Given the description of an element on the screen output the (x, y) to click on. 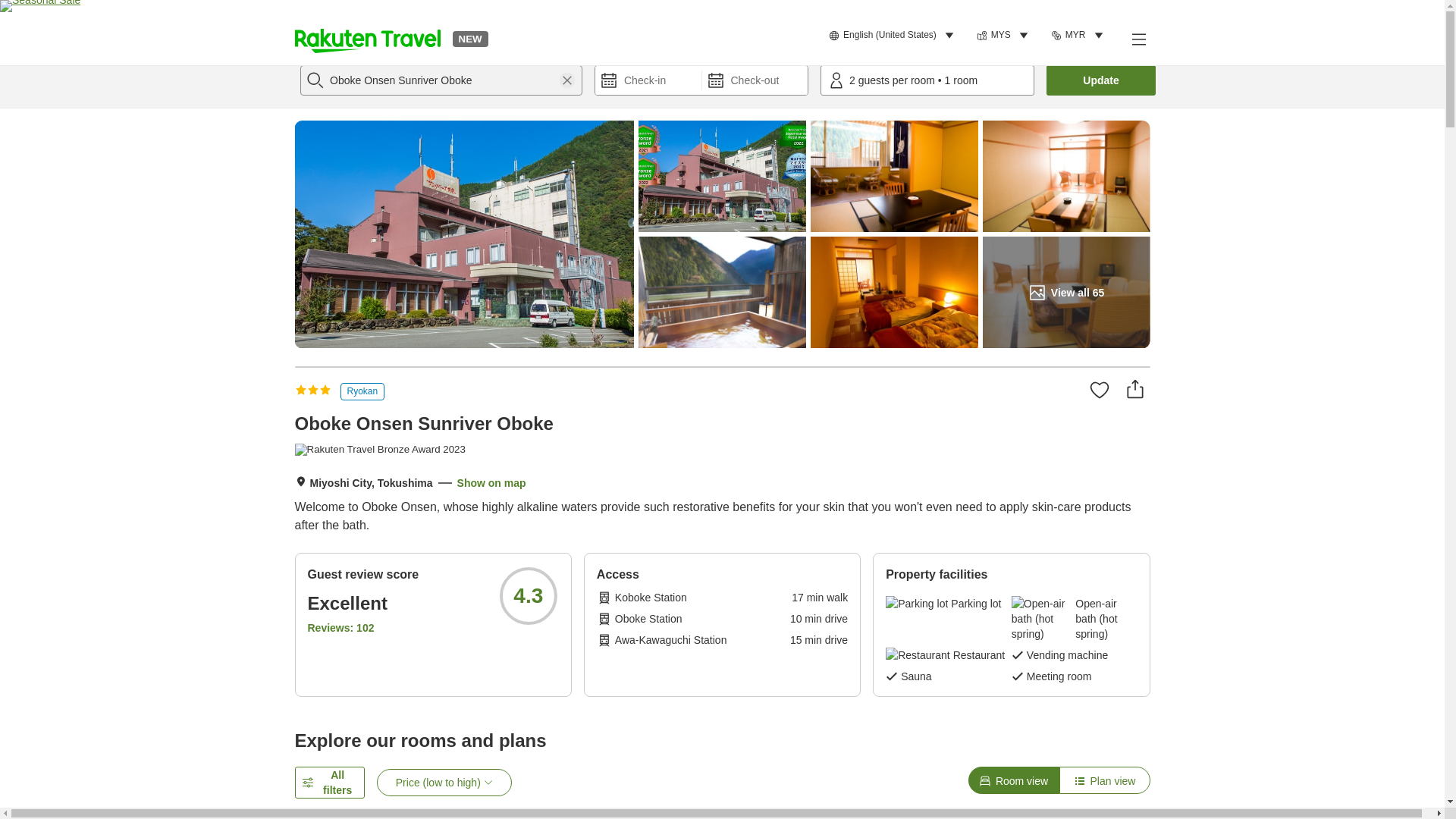
Room view (1013, 779)
Plan view (1104, 779)
Oboke Onsen Sunriver Oboke (440, 80)
NEW (469, 37)
All filters (329, 782)
Update (1101, 80)
Find a room (1096, 75)
Check-in (648, 80)
View all 65 (1066, 292)
Check-out (754, 80)
